Given the description of an element on the screen output the (x, y) to click on. 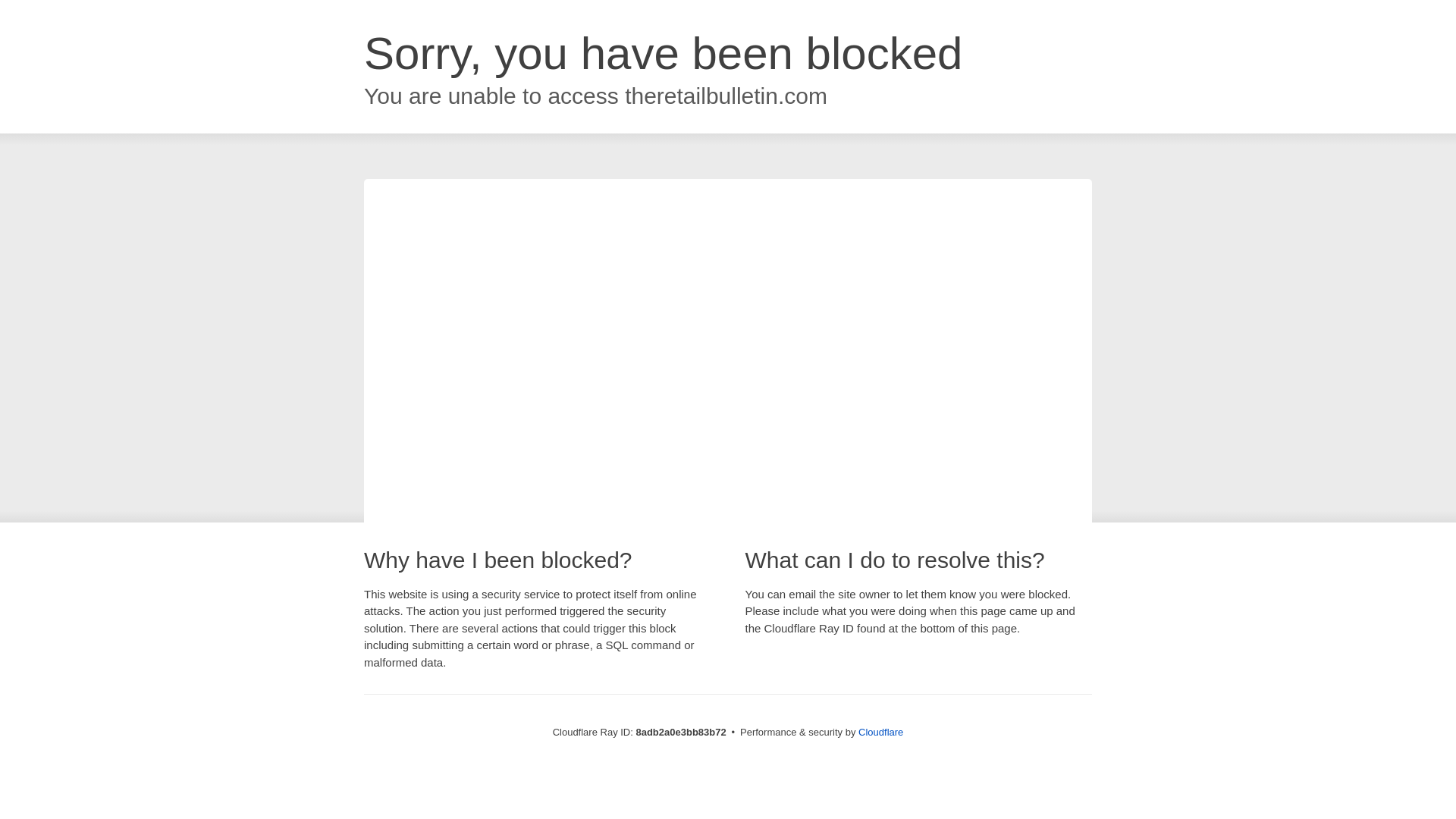
Cloudflare (880, 731)
